Given the description of an element on the screen output the (x, y) to click on. 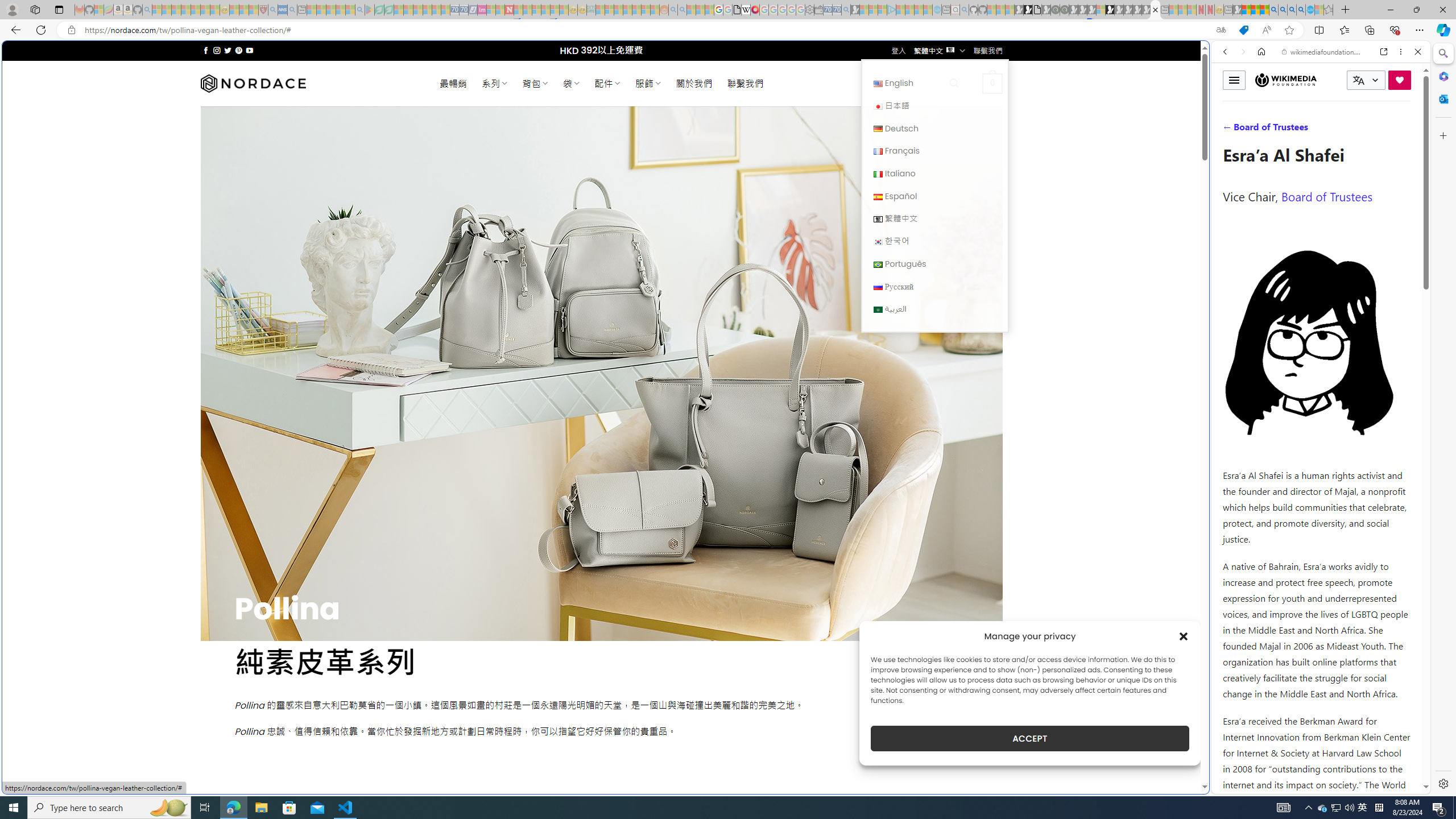
Italiano Italiano (934, 173)
google - Search - Sleeping (359, 9)
wikimediafoundation.org (1323, 51)
Class: i icon icon-translate language-switcher__icon (1358, 80)
Board of Trustees (1326, 195)
